Given the description of an element on the screen output the (x, y) to click on. 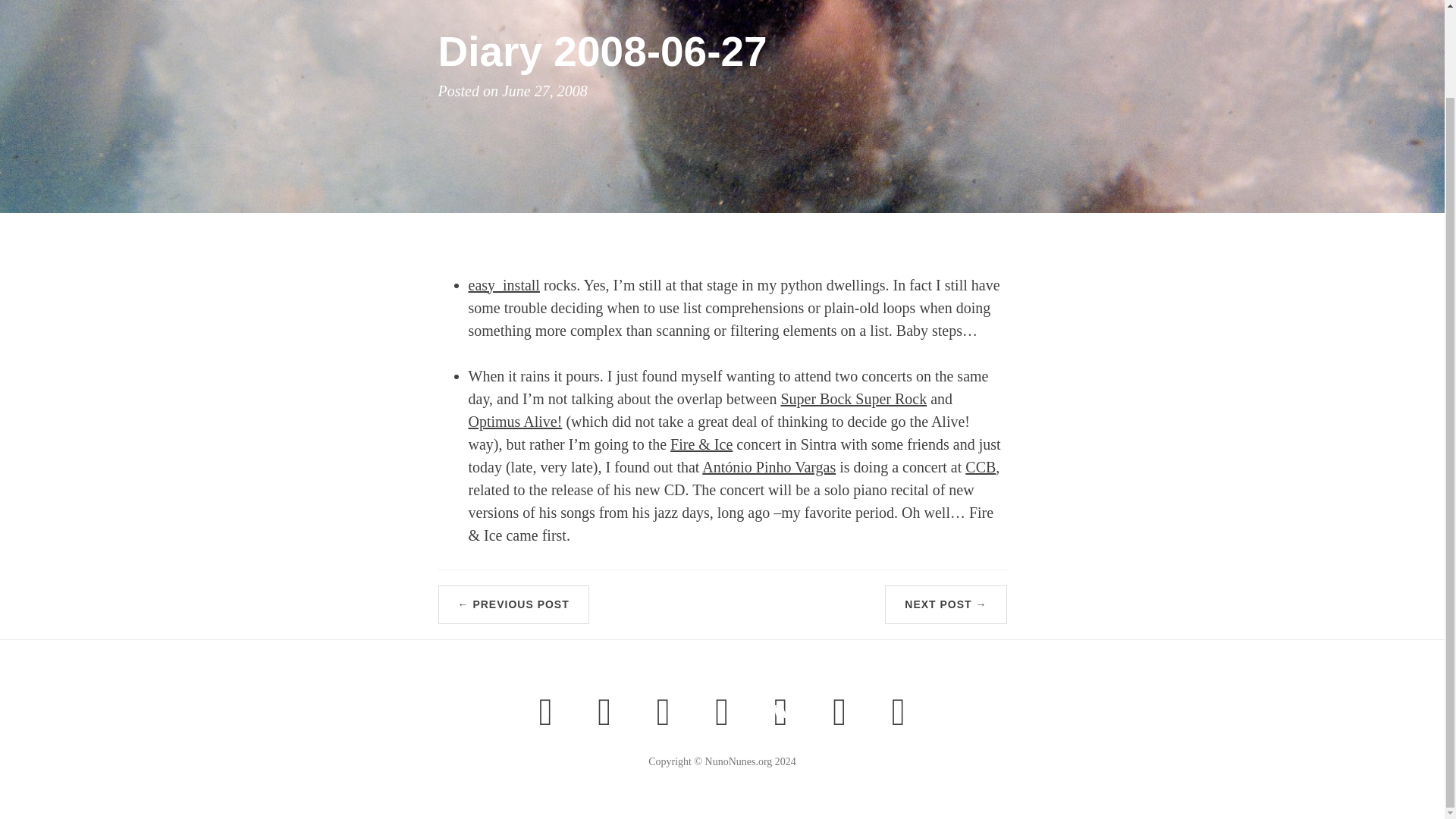
Super Bock Super Rock (853, 397)
CCB (980, 466)
Optimus Alive! (515, 420)
